Given the description of an element on the screen output the (x, y) to click on. 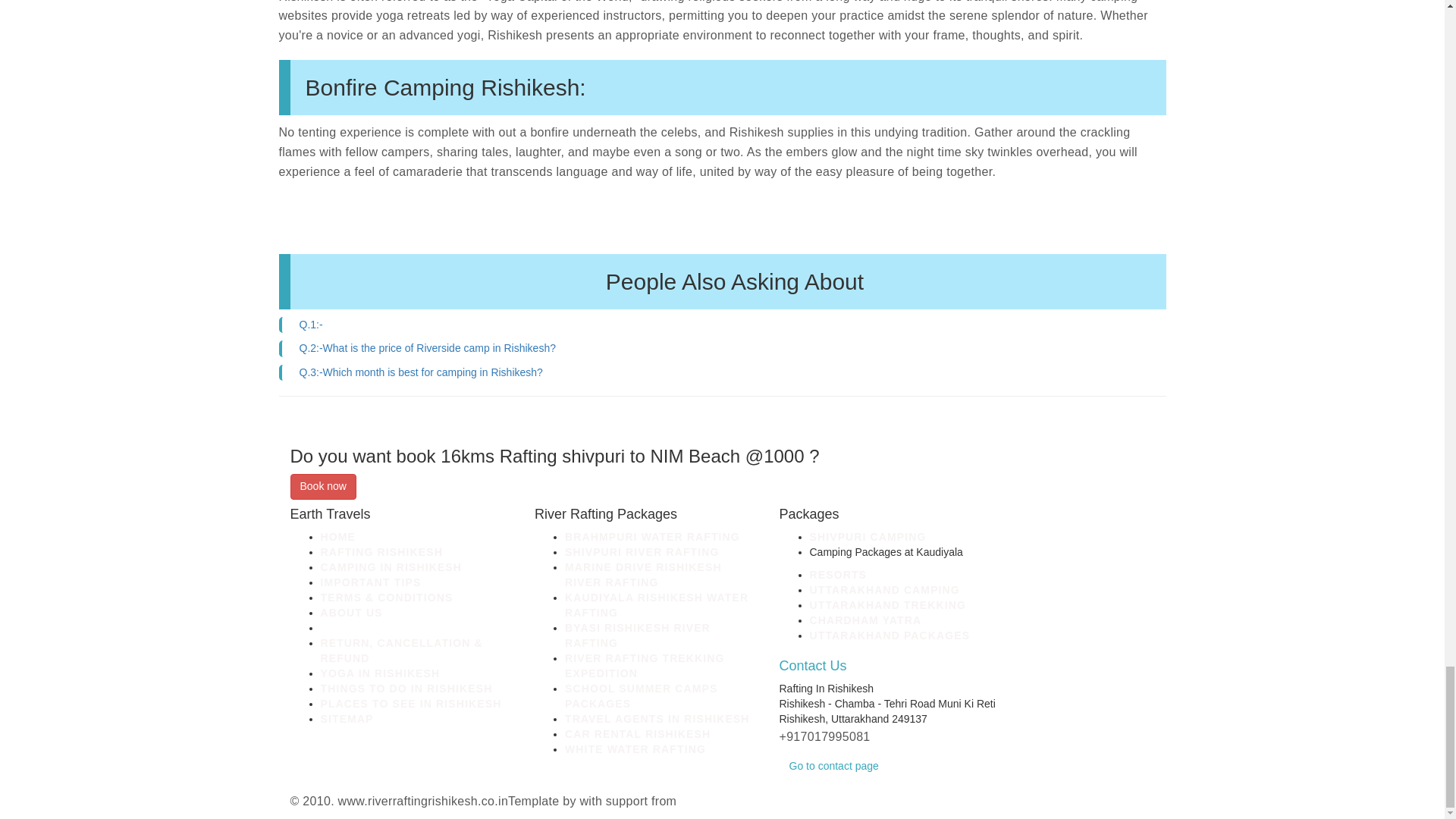
river rafting (884, 589)
river rafting (865, 620)
camping rishikesh (370, 582)
camping rishikesh (643, 574)
camping rishikesh (390, 567)
river rafting (887, 604)
camping rishikesh (812, 665)
camping rishikesh (651, 536)
camping rishikesh (656, 605)
river rafting (890, 635)
camping rishikesh (386, 597)
camping rishikesh (641, 551)
rafting rishikesh (381, 551)
camping rishikesh (350, 612)
